Given the description of an element on the screen output the (x, y) to click on. 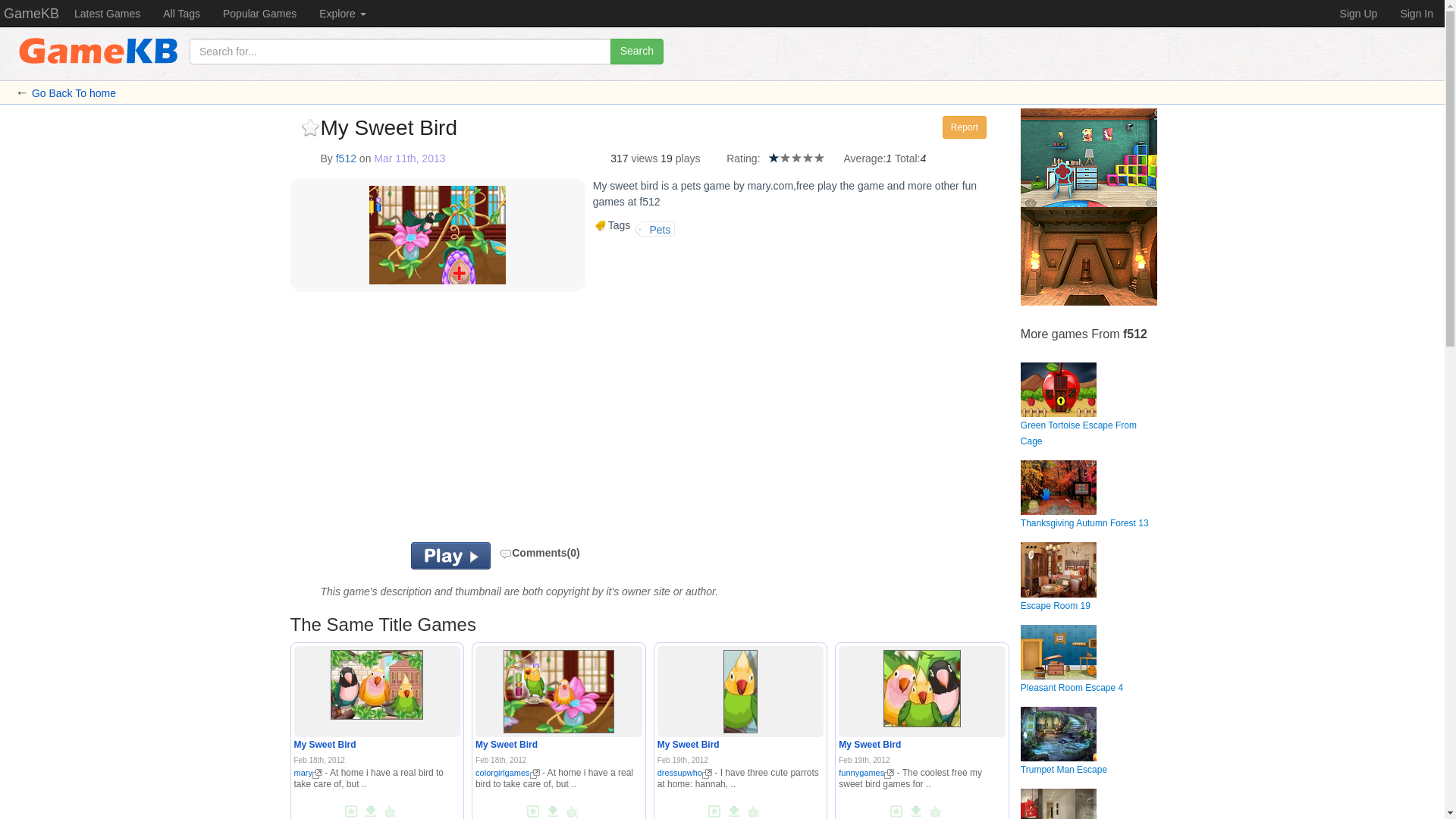
The game illegal? report it please! (964, 127)
Liked it (796, 156)
Explore (342, 13)
My Sweet Bird (325, 744)
Loved it (819, 156)
My Sweet Bird (376, 684)
Latest Games (106, 13)
Very liked it (807, 156)
play the game My Sweet Bird (558, 689)
Newest games (106, 13)
